Given the description of an element on the screen output the (x, y) to click on. 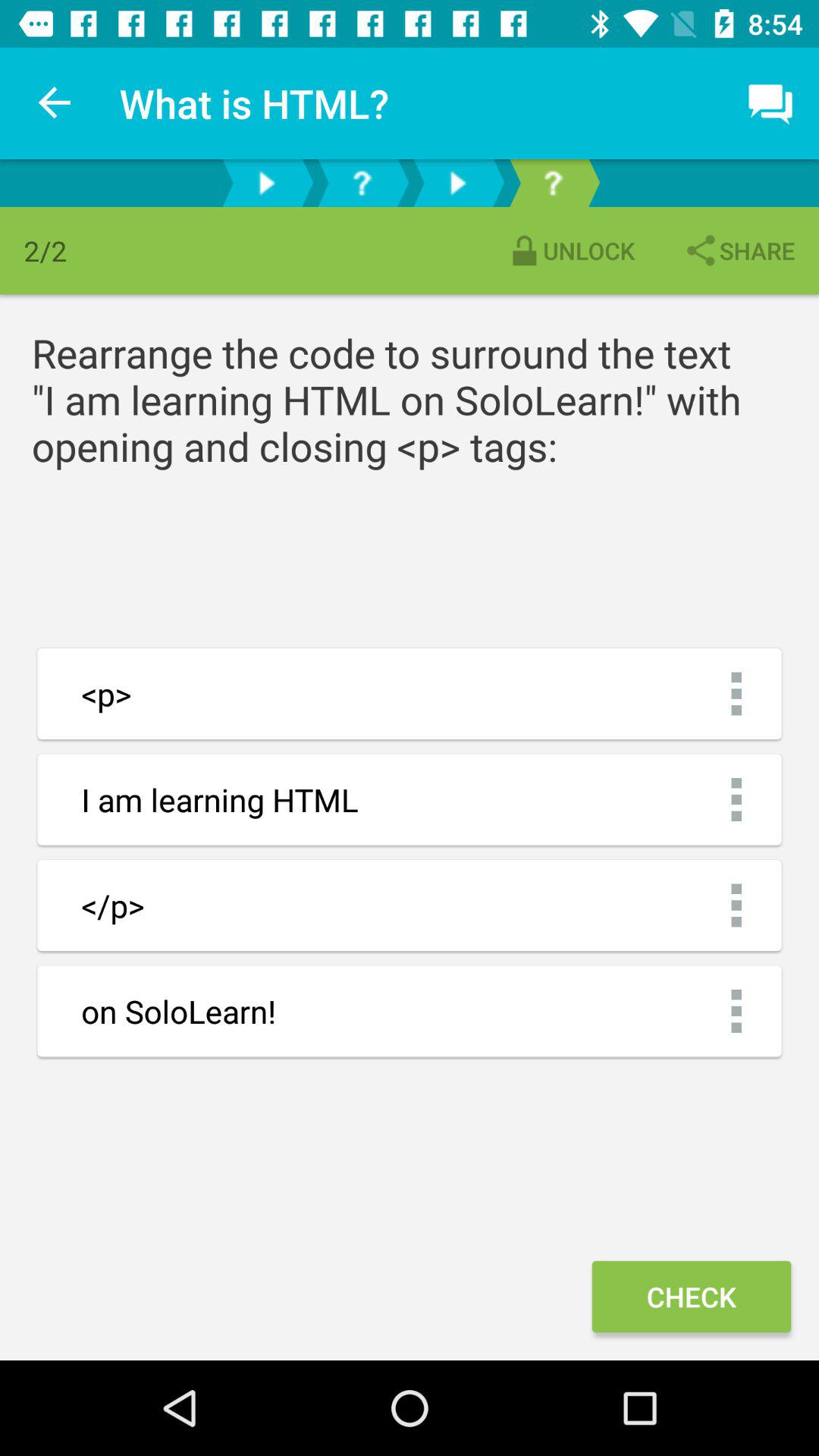
select question mark option (361, 183)
